Given the description of an element on the screen output the (x, y) to click on. 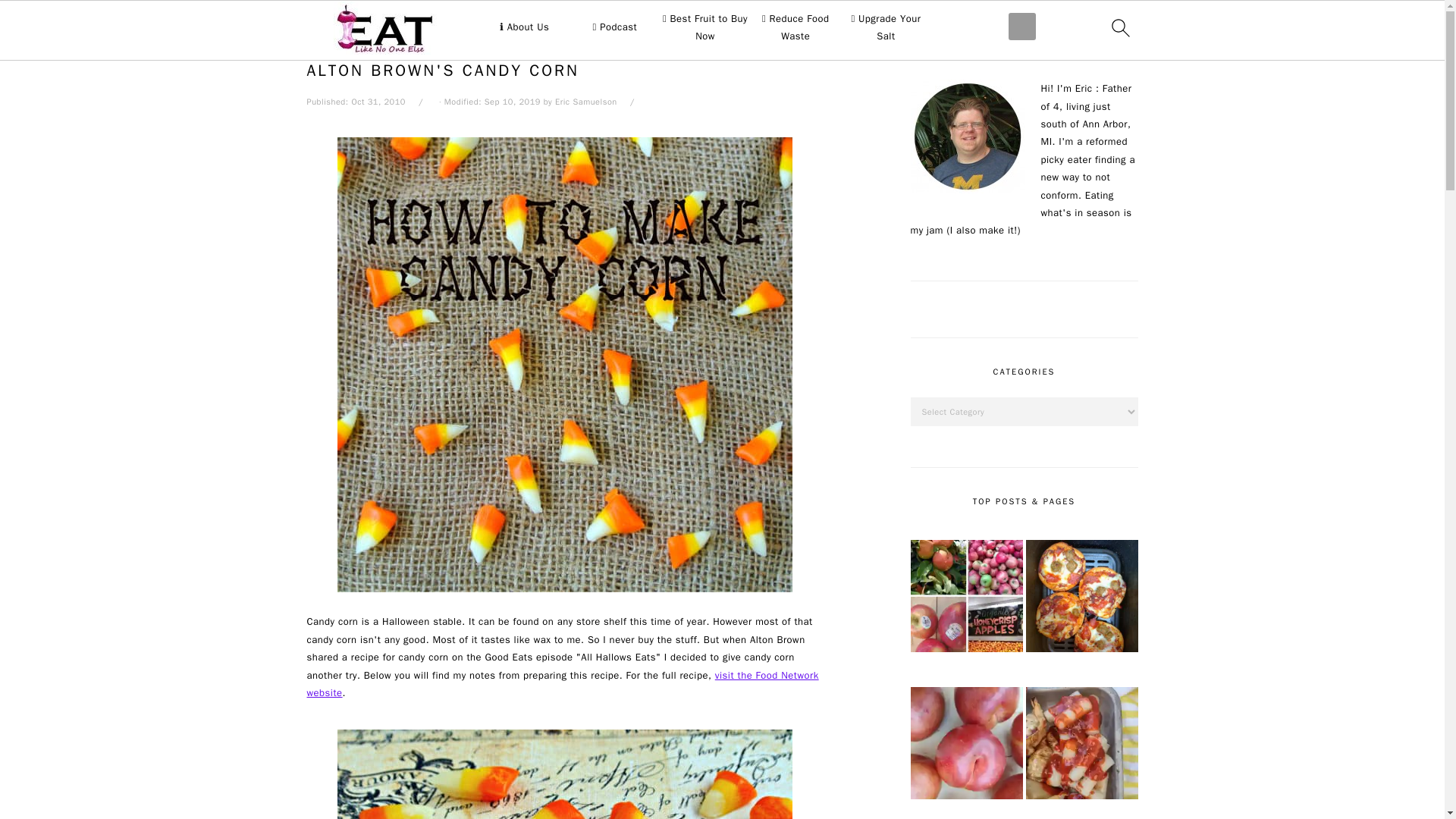
The Plum That is Part Nectarine - Dapple Fire Pluots (966, 745)
search icon (1119, 27)
How to Air Fry Stir-Fried Rice Cakes from Trader Joe's (1081, 745)
